Given the description of an element on the screen output the (x, y) to click on. 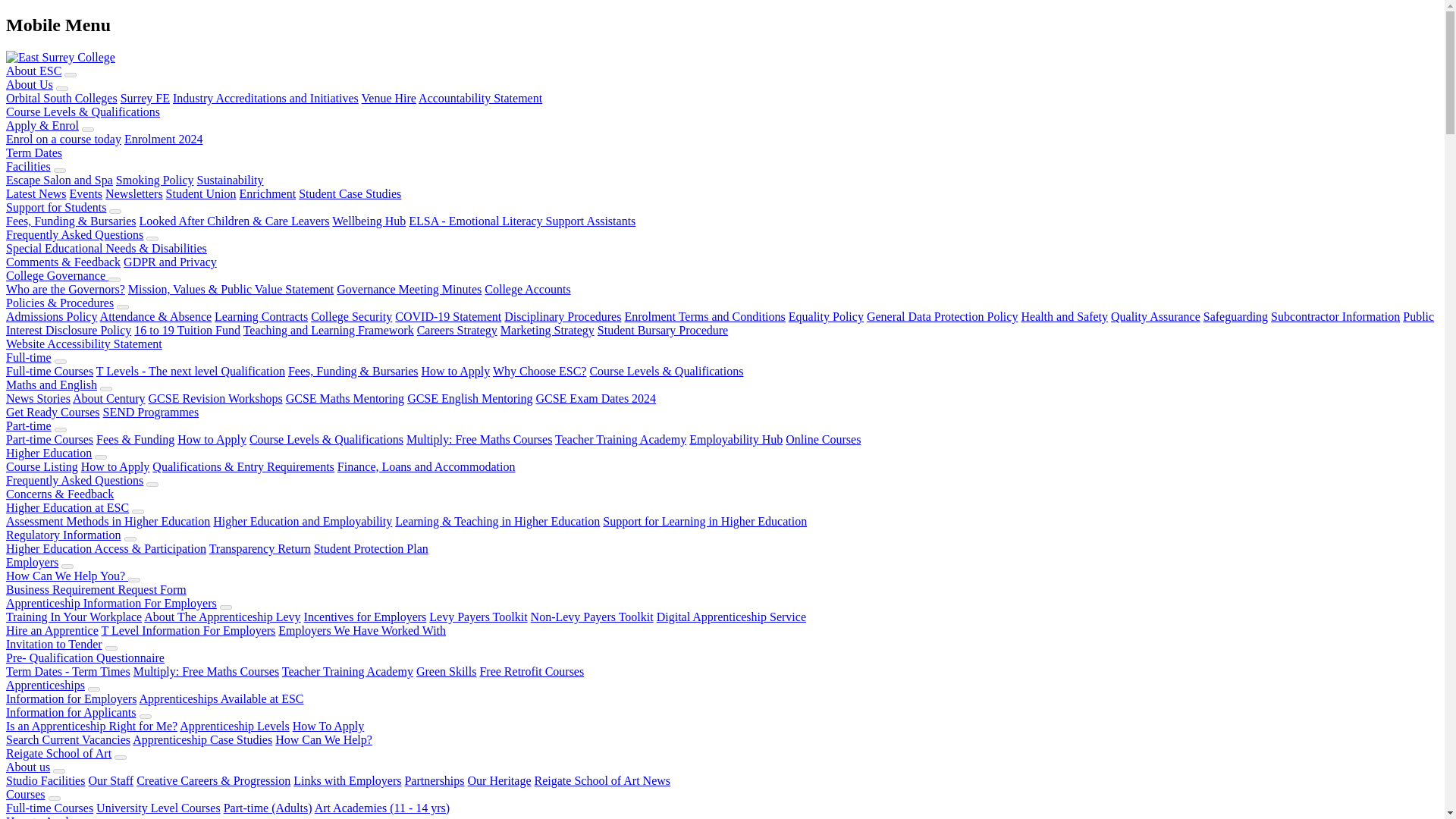
Facilities (27, 165)
Escape Salon and Spa (59, 179)
Enrolment 2024 (163, 138)
Student Union (200, 193)
Enrichment (268, 193)
Smoking Policy (154, 179)
ELSA - Emotional Literacy Support Assistants (521, 220)
Orbital South Colleges (61, 97)
Wellbeing Hub (368, 220)
Frequently Asked Questions (73, 234)
Term Dates (33, 152)
Events (86, 193)
Sustainability (229, 179)
Student Case Studies (349, 193)
Industry Accreditations and Initiatives (265, 97)
